Given the description of an element on the screen output the (x, y) to click on. 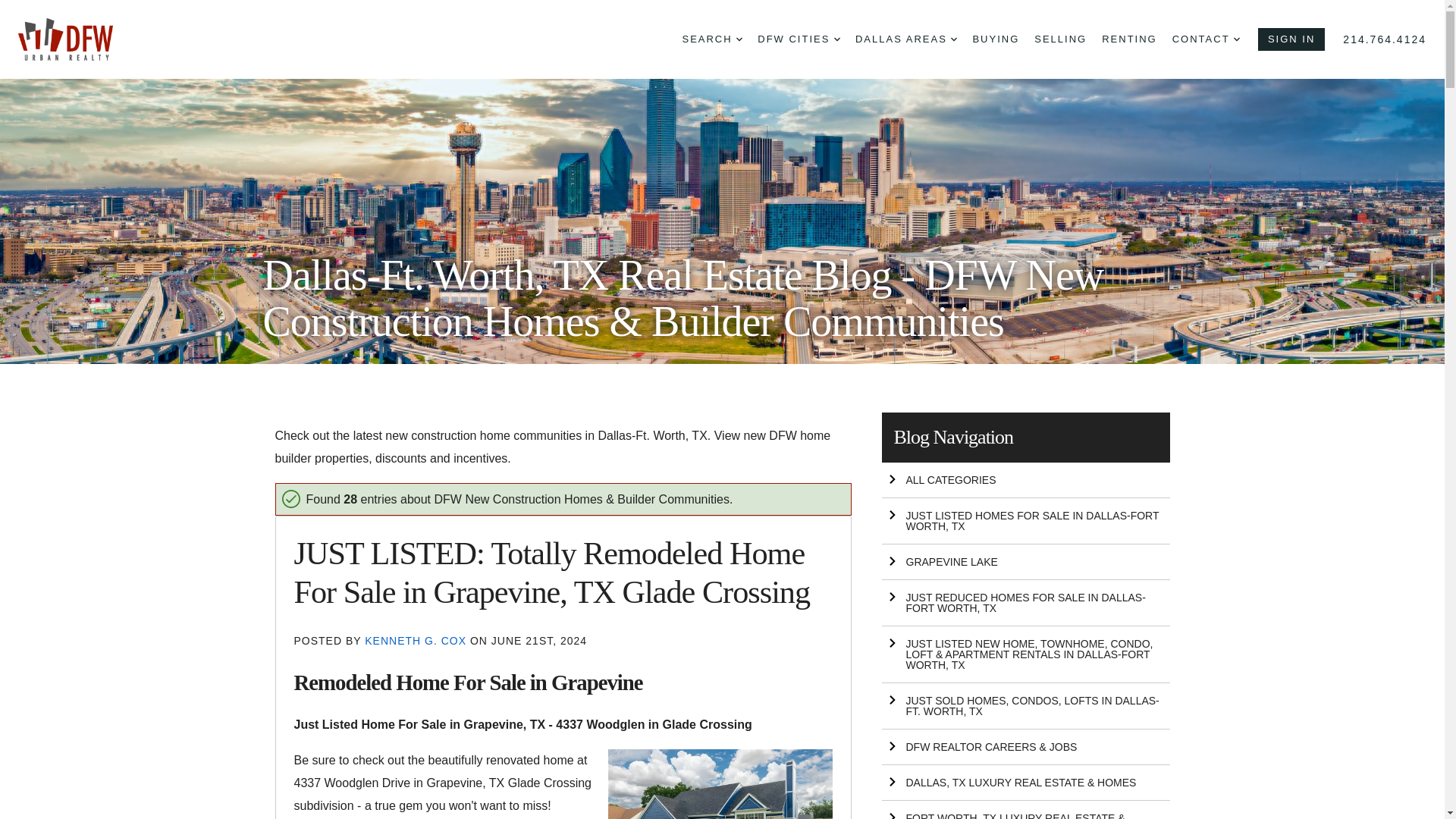
DROPDOWN ARROW (739, 39)
DROPDOWN ARROW (1236, 39)
SEARCH DROPDOWN ARROW (711, 39)
DROPDOWN ARROW (953, 39)
DALLAS AREAS DROPDOWN ARROW (906, 39)
DFW CITIES DROPDOWN ARROW (798, 39)
DROPDOWN ARROW (837, 39)
